Given the description of an element on the screen output the (x, y) to click on. 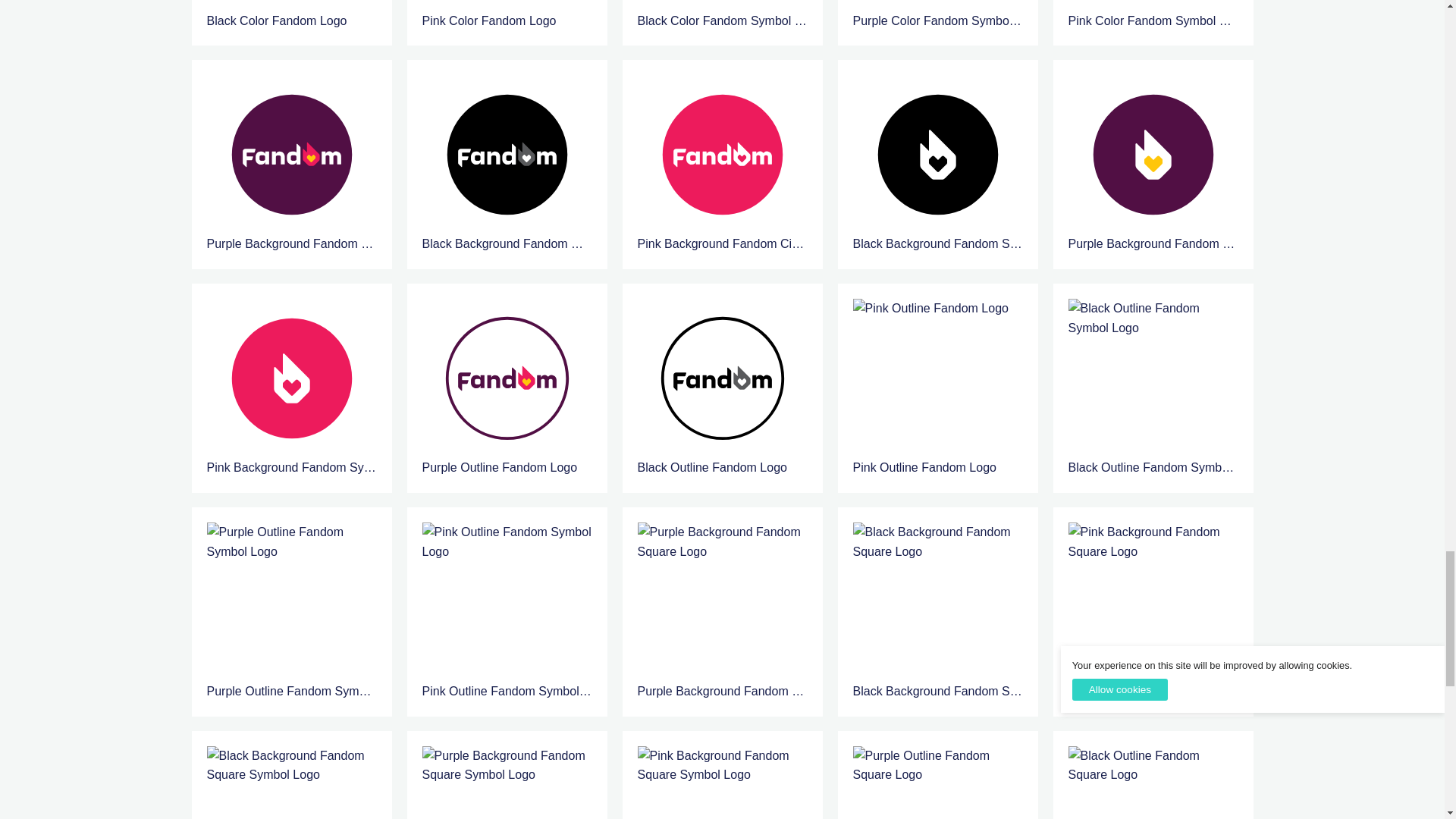
Pink Color Fandom Logo (506, 5)
Purple Color Fandom Symbol Logo (936, 15)
Purple Color Fandom Symbol Logo (936, 5)
Black Color Fandom Logo (290, 15)
Black Color Fandom Symbol Logo (721, 5)
Black Color Fandom Symbol Logo (721, 15)
Pink Color Fandom Logo (506, 15)
Black Color Fandom Logo (290, 5)
Pink Color Fandom Symbol Logo (1152, 15)
